Given the description of an element on the screen output the (x, y) to click on. 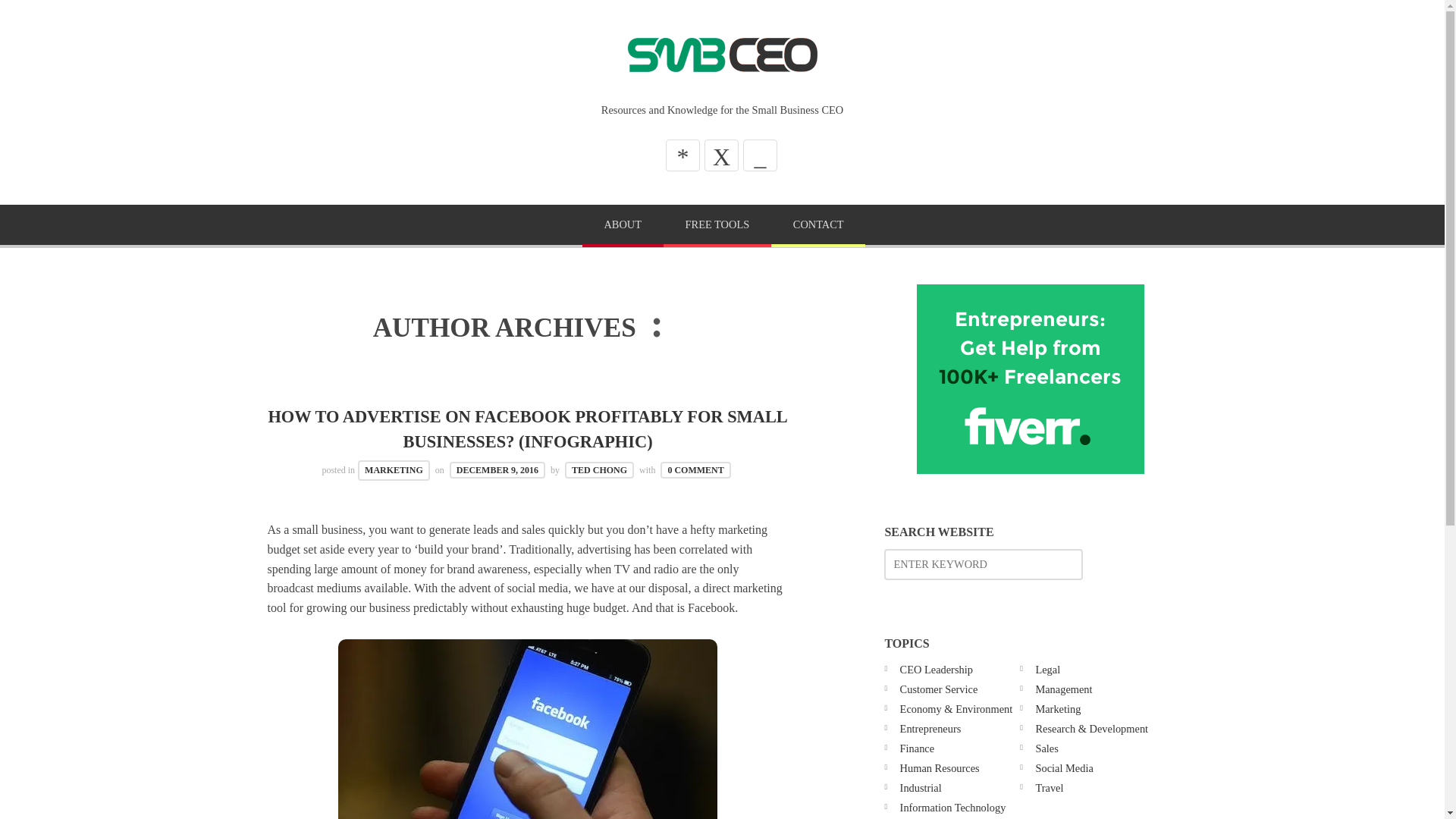
Human Resources (939, 767)
TED CHONG (598, 469)
Sales (1046, 748)
CEO Leadership (935, 669)
Management (1063, 689)
FREE TOOLS (717, 225)
DECEMBER 9, 2016 (496, 469)
Search (45, 16)
ABOUT (622, 225)
Travel (1048, 787)
8:23 am (496, 469)
Social Media (1064, 767)
CONTACT (817, 225)
X (721, 155)
0 COMMENT (695, 469)
